Given the description of an element on the screen output the (x, y) to click on. 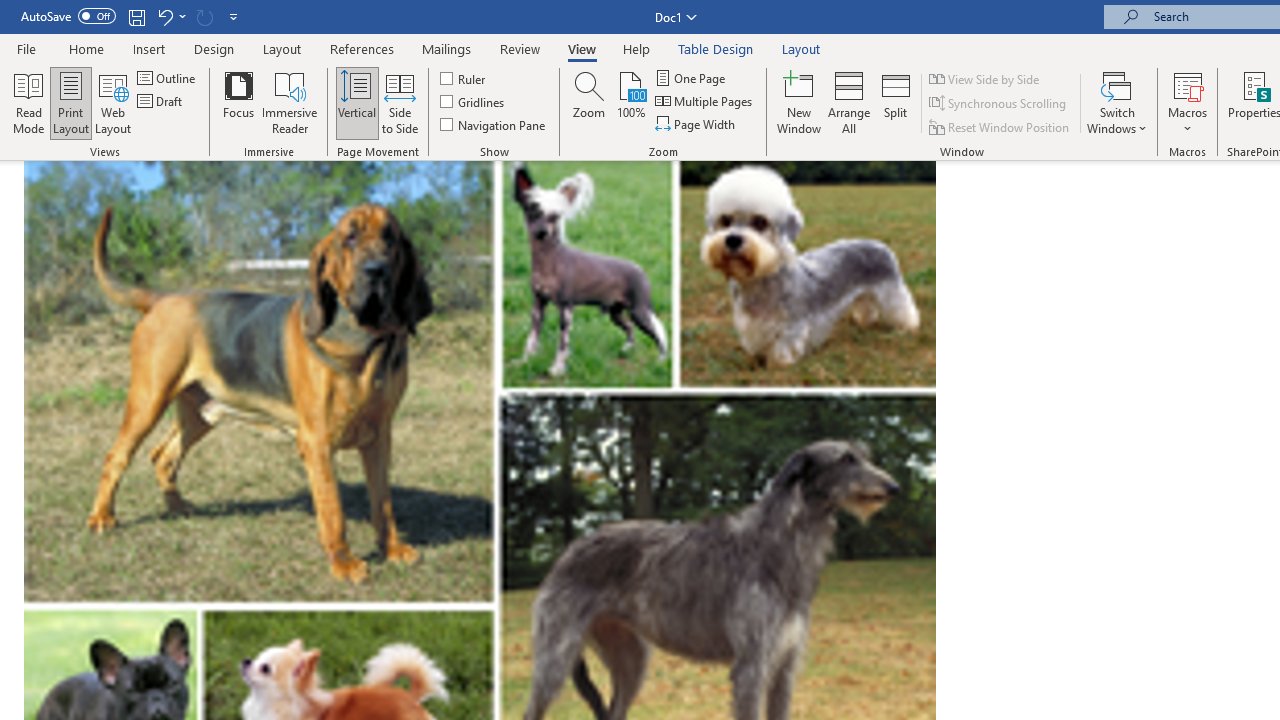
Immersive Reader (289, 102)
View Side by Side (985, 78)
One Page (691, 78)
Synchronous Scrolling (998, 103)
View Macros (1187, 84)
Undo Row Height Spinner (170, 15)
Ruler (463, 78)
Multiple Pages (705, 101)
